Given the description of an element on the screen output the (x, y) to click on. 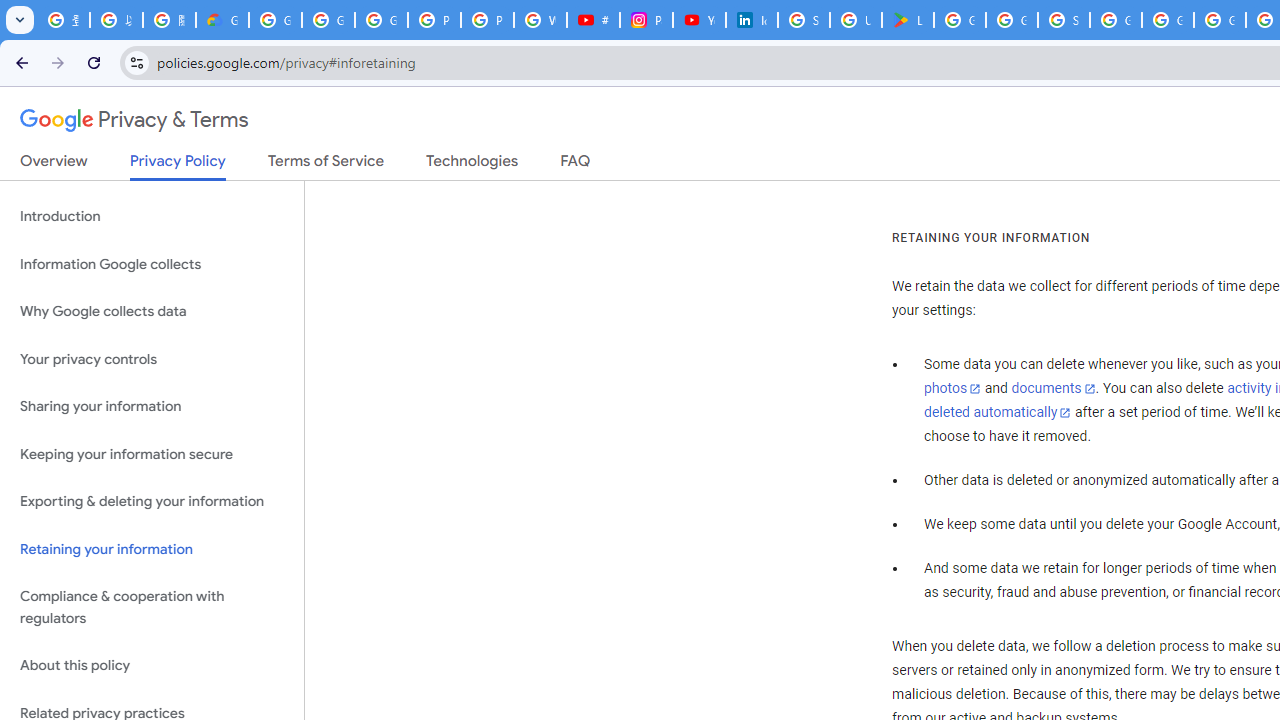
About this policy (152, 666)
Privacy Policy (177, 166)
Sign in - Google Accounts (1064, 20)
#nbabasketballhighlights - YouTube (593, 20)
Retaining your information (152, 548)
Terms of Service (326, 165)
photos (952, 389)
